Given the description of an element on the screen output the (x, y) to click on. 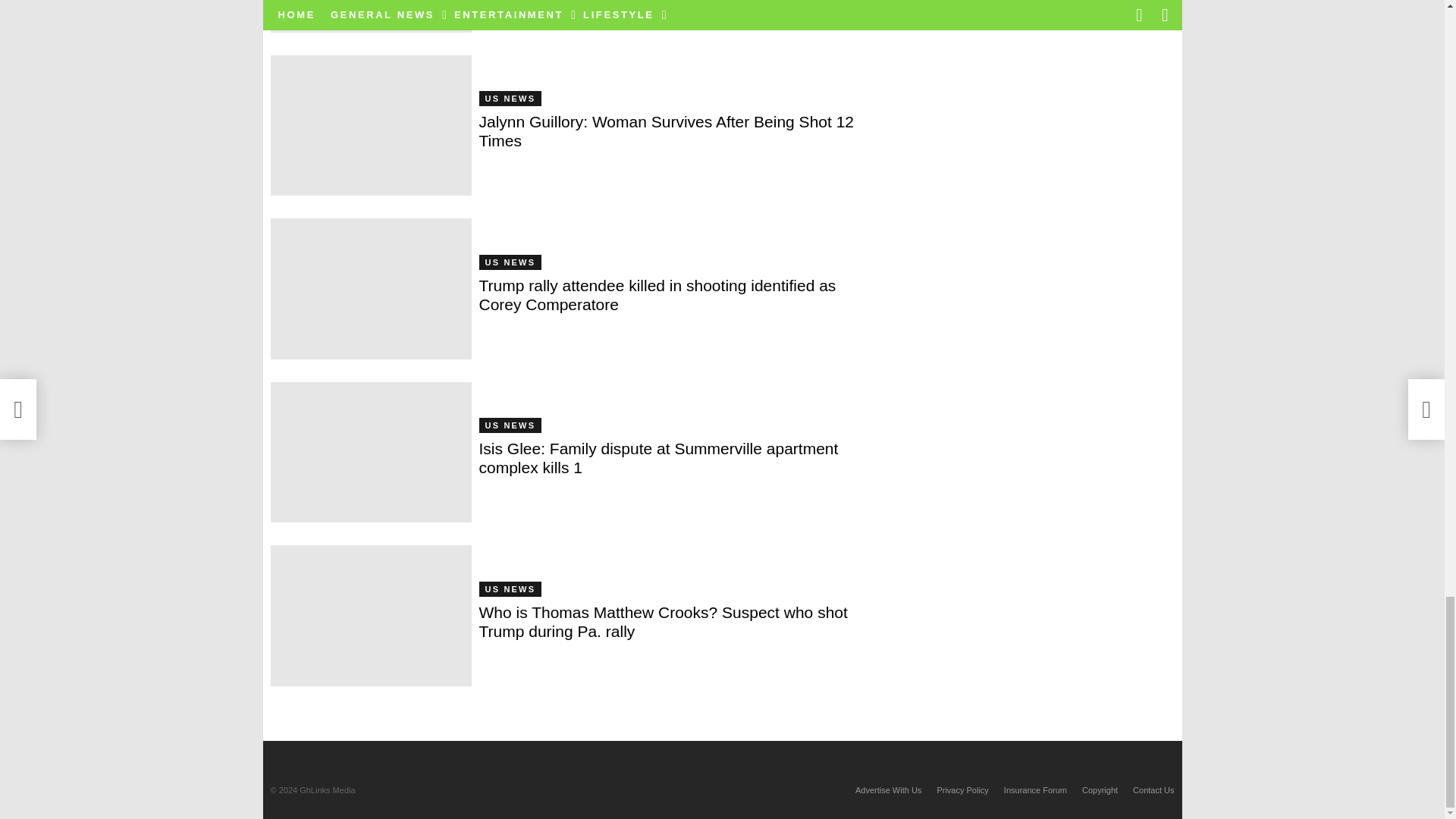
Jalynn Guillory: Woman Survives After Being Shot 12 Times (369, 125)
